Given the description of an element on the screen output the (x, y) to click on. 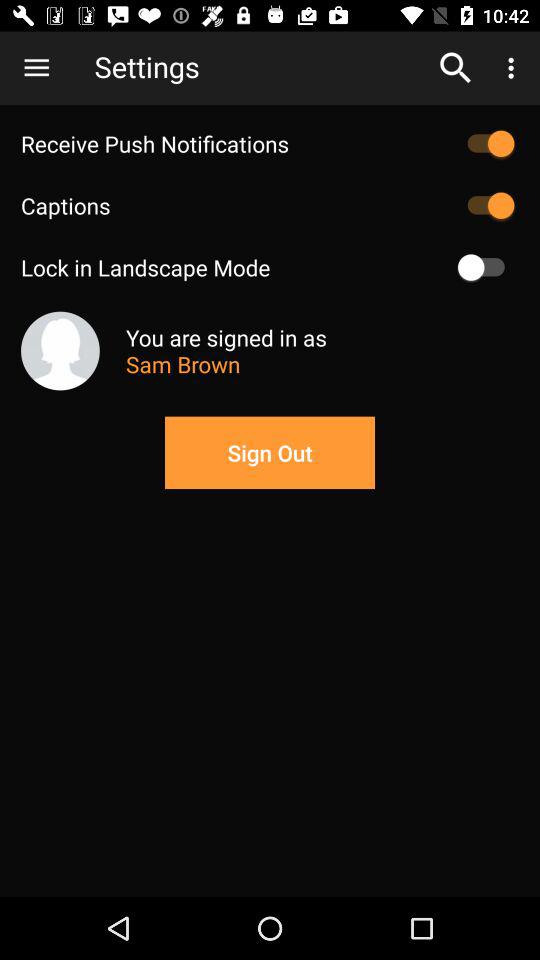
caption on/off (486, 205)
